Given the description of an element on the screen output the (x, y) to click on. 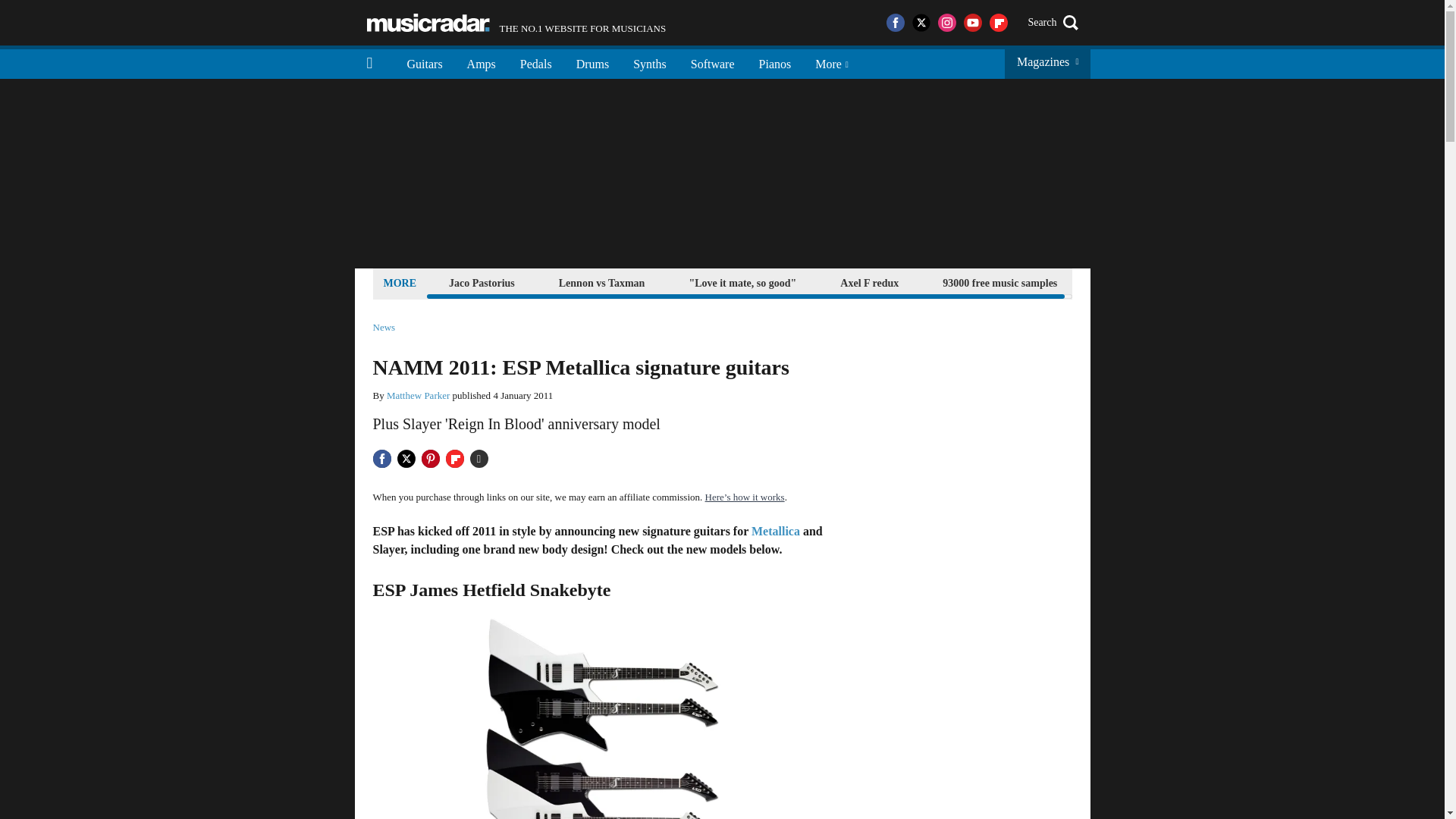
Jaco Pastorius (481, 282)
Axel F redux (869, 282)
Music Radar (427, 22)
Pedals (516, 22)
"Love it mate, so good" (536, 61)
Pianos (742, 282)
Software (774, 61)
Synths (712, 61)
Drums (649, 61)
Lennon vs Taxman (592, 61)
Guitars (601, 282)
Amps (424, 61)
93000 free music samples (481, 61)
